Given the description of an element on the screen output the (x, y) to click on. 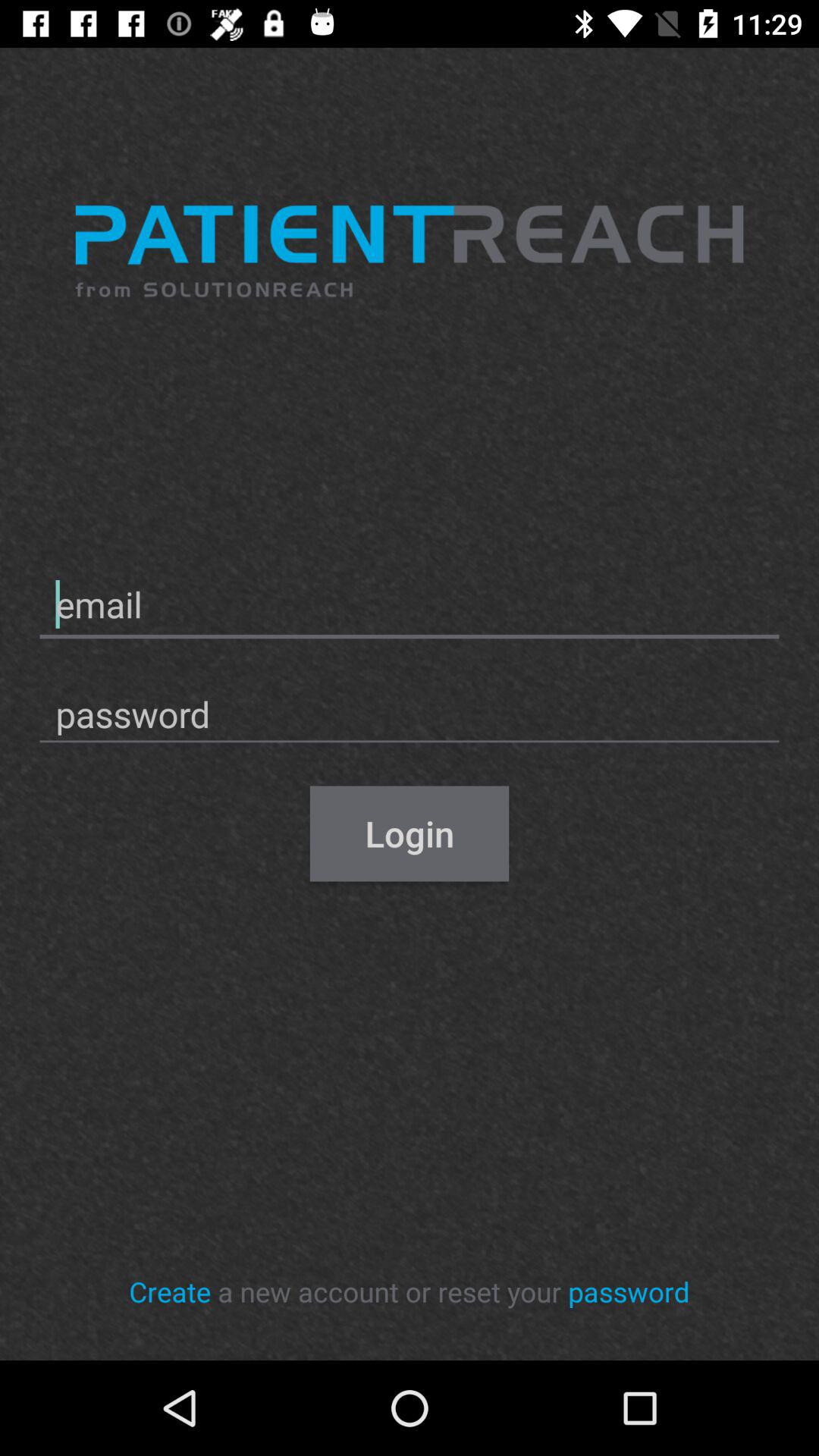
select icon next to the a new account icon (170, 1291)
